Given the description of an element on the screen output the (x, y) to click on. 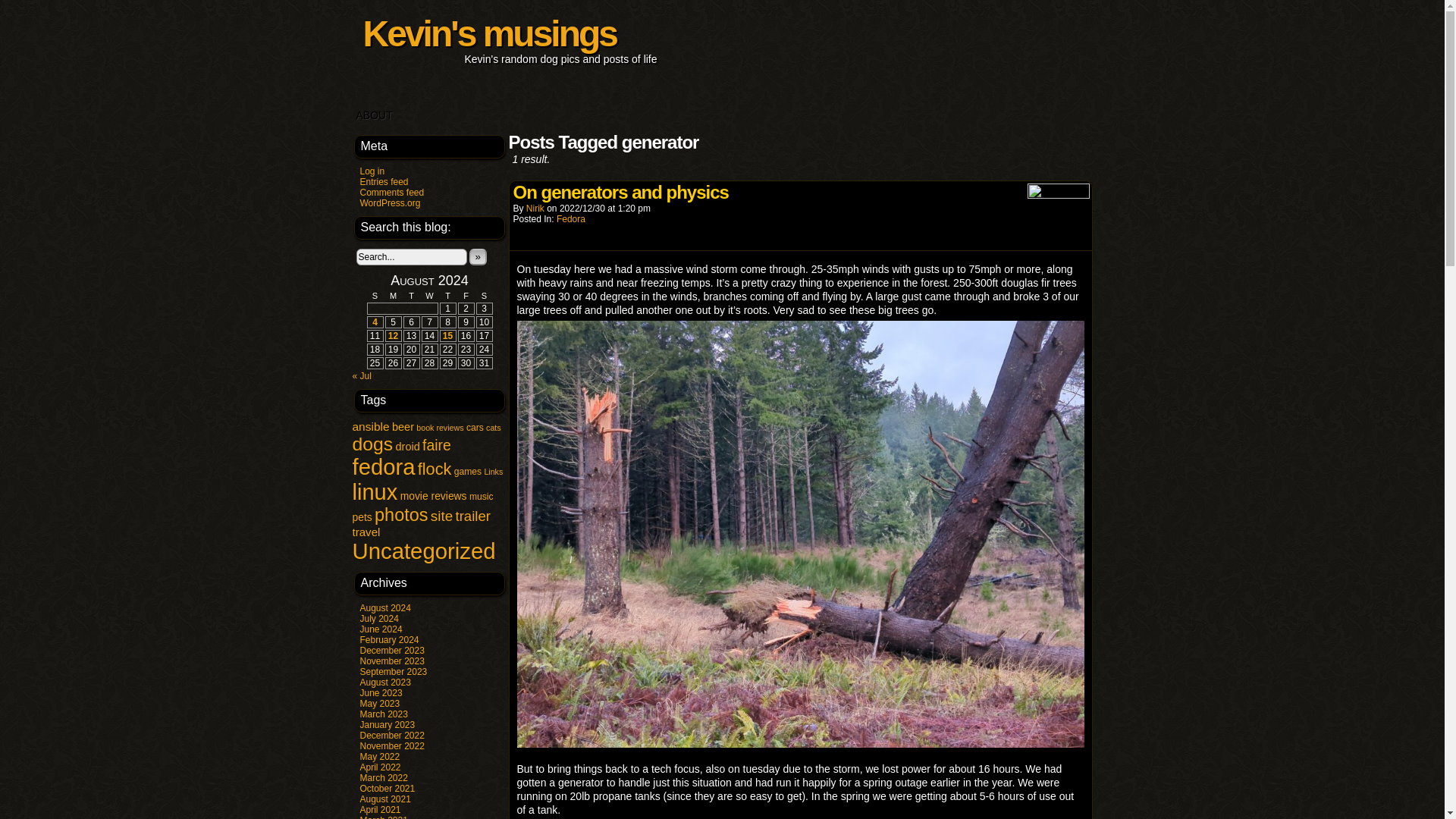
book reviews (439, 427)
Uncategorized (423, 550)
ABOUT (373, 115)
December 2023 (391, 650)
June 2024 (380, 629)
Friday (466, 295)
Comments feed (391, 192)
August 2023 (384, 682)
August 2024 (384, 607)
dogs (372, 444)
